Given the description of an element on the screen output the (x, y) to click on. 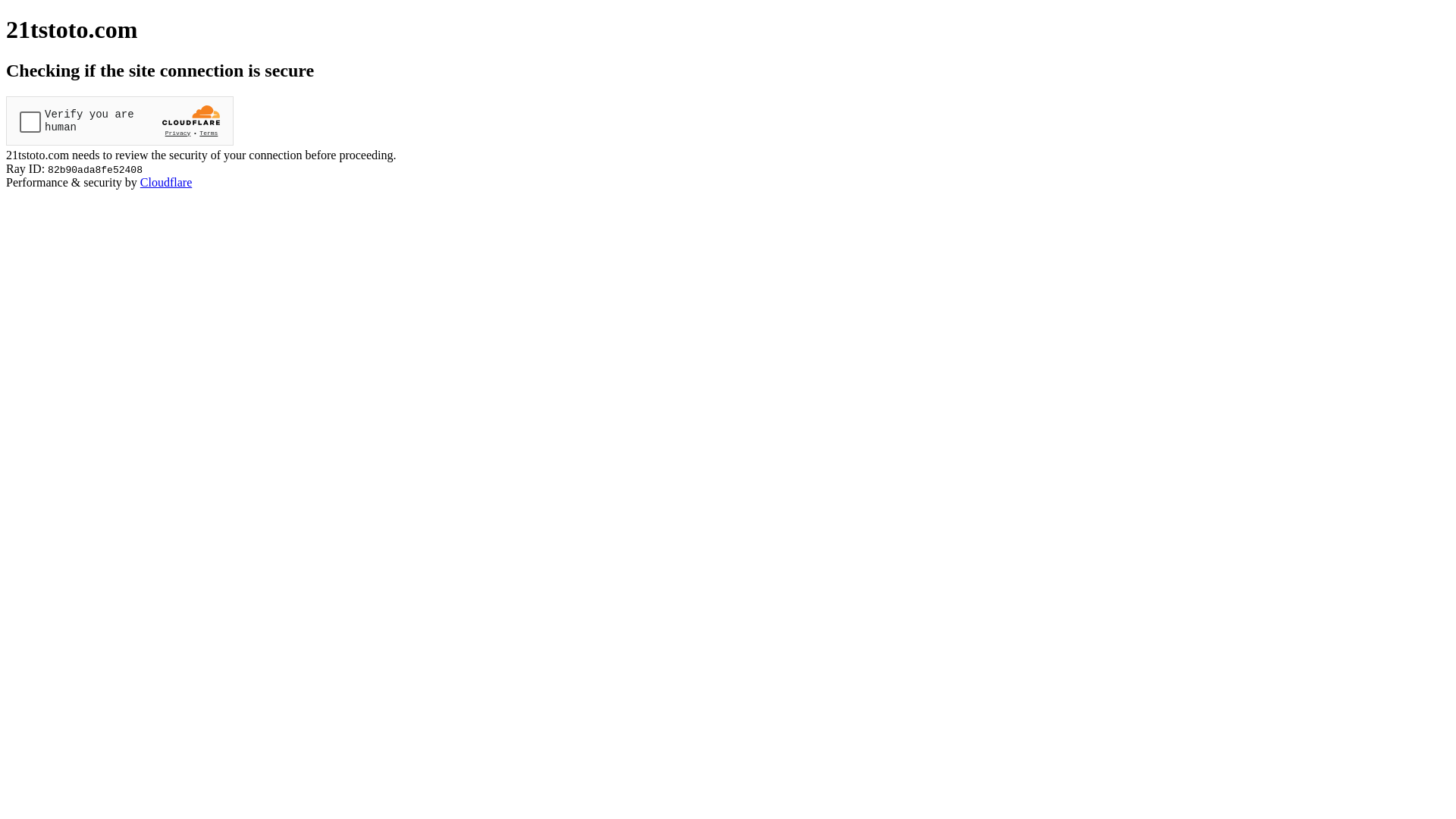
Cloudflare Element type: text (165, 181)
Widget containing a Cloudflare security challenge Element type: hover (119, 120)
